Given the description of an element on the screen output the (x, y) to click on. 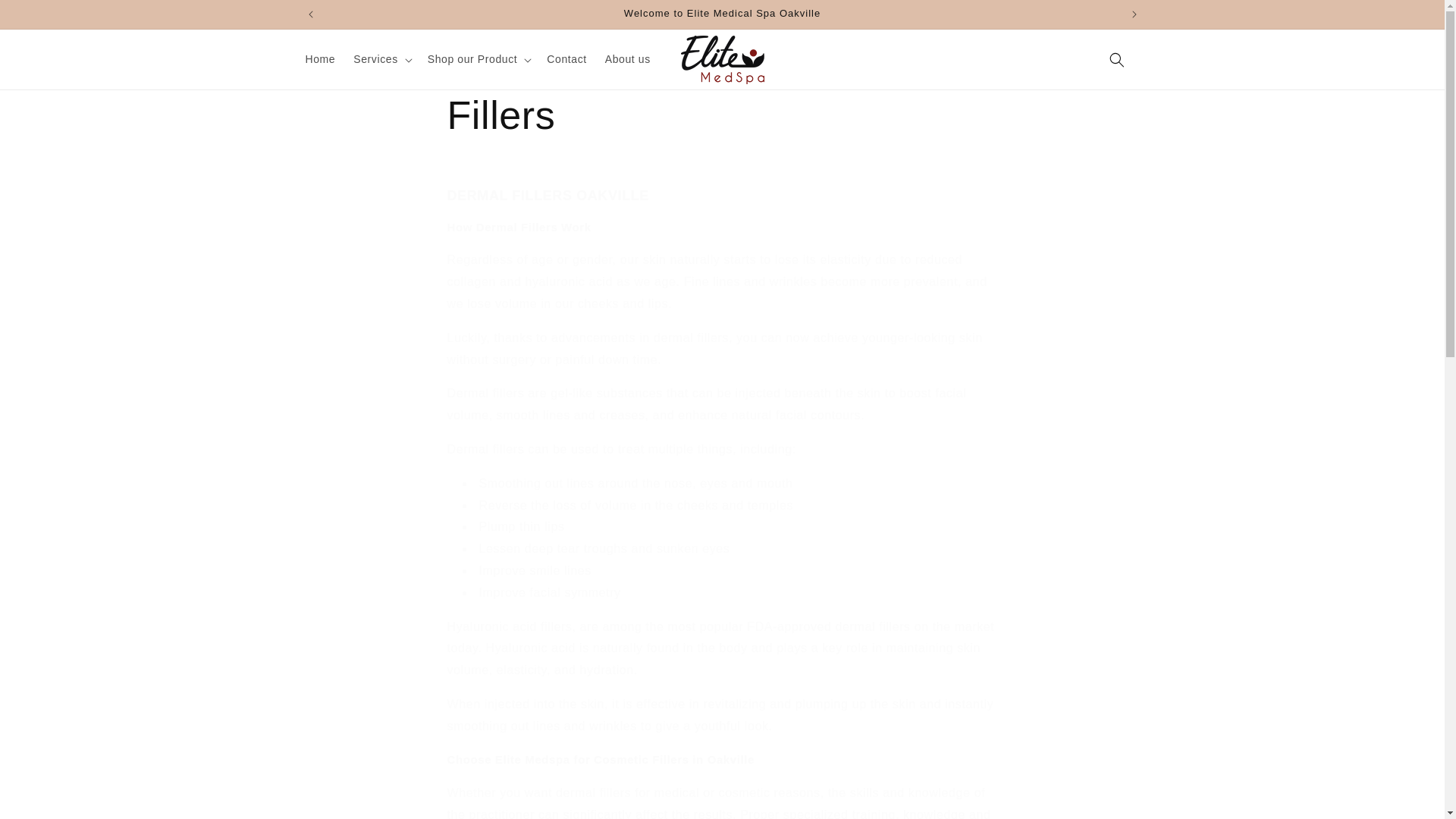
Skip to content (45, 17)
Fillers (721, 115)
Home (319, 59)
